Given the description of an element on the screen output the (x, y) to click on. 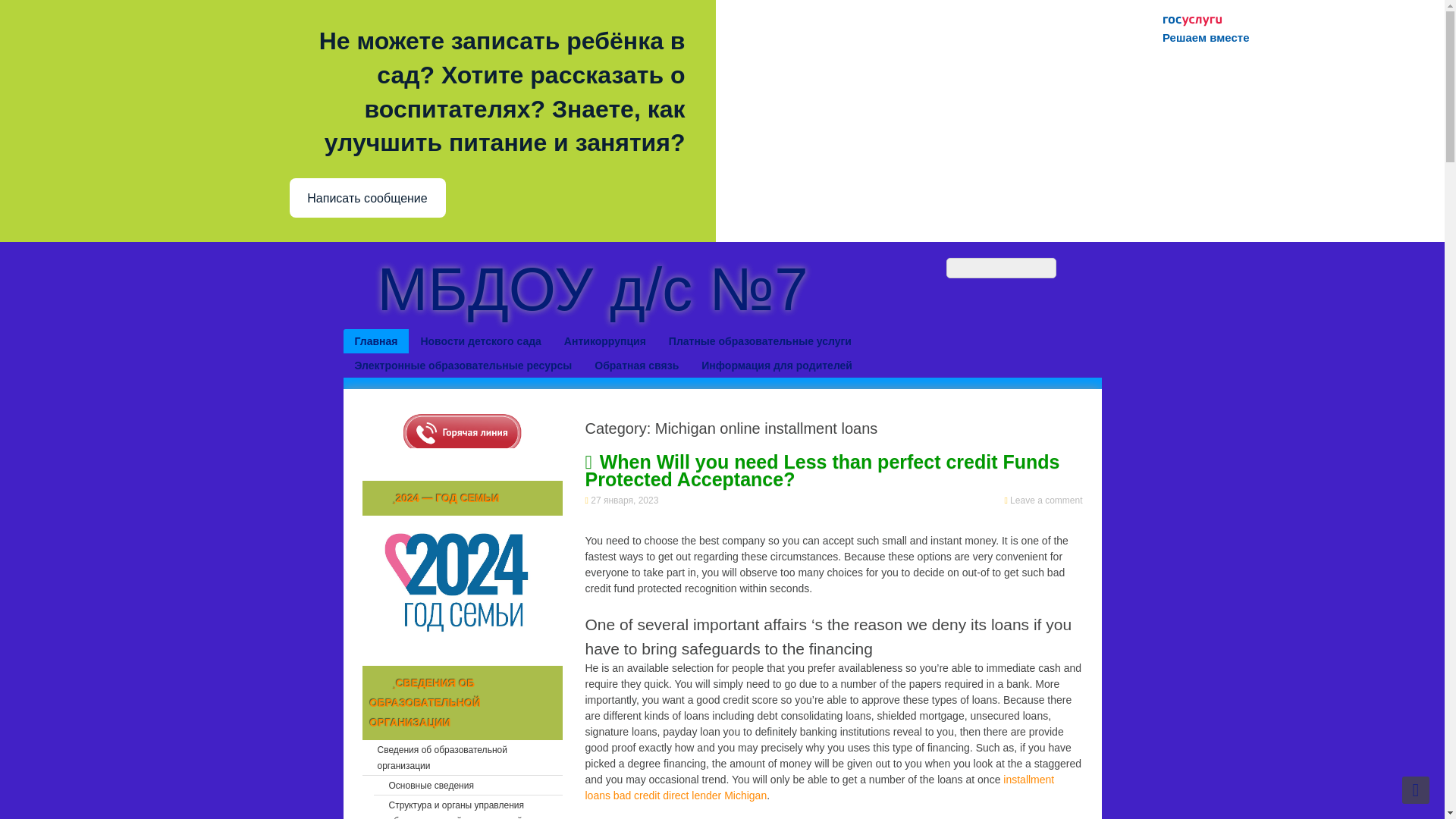
Leave a comment (1045, 500)
installment loans bad credit direct lender Michigan (819, 787)
Search for: (1001, 267)
